Given the description of an element on the screen output the (x, y) to click on. 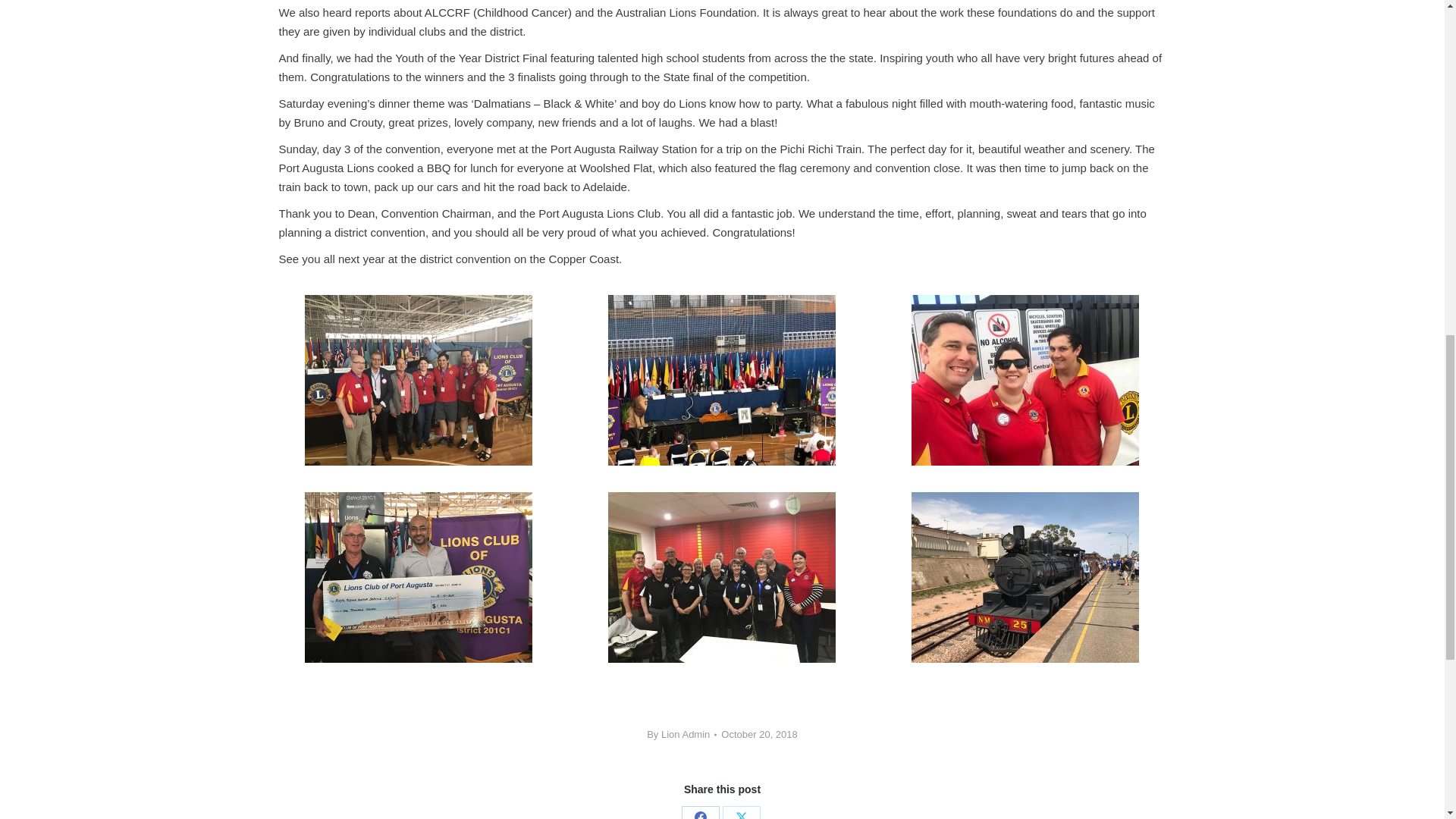
Pichi Richi Train (1024, 577)
Facebook (700, 812)
convention-hall (721, 380)
X (741, 812)
city of adelaide lions group (418, 380)
1:39 pm (758, 734)
Accepting a cheque from Port Augusta Lions (418, 577)
View all posts by Lion Admin (681, 734)
